Given the description of an element on the screen output the (x, y) to click on. 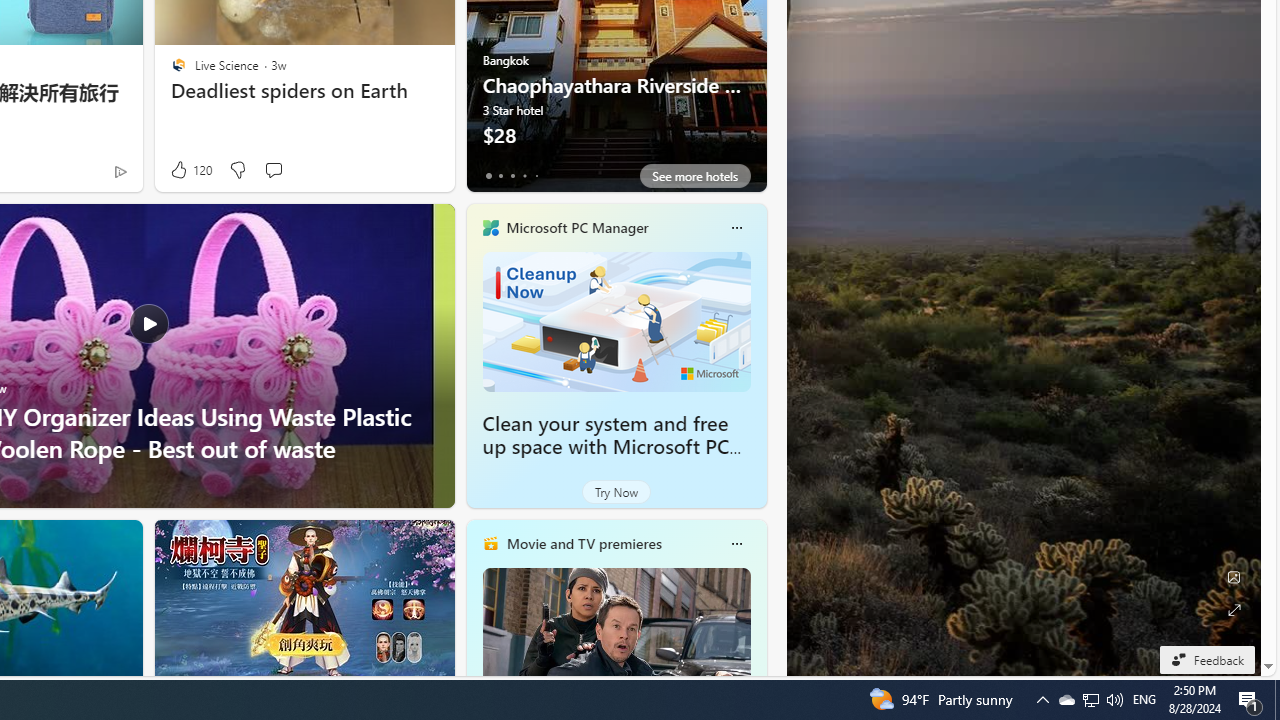
tab-2 (511, 175)
tab-1 (500, 175)
Start the conversation (272, 170)
tab-4 (535, 175)
Microsoft PC Manager (576, 227)
Movie and TV premieres (583, 543)
See more hotels (694, 175)
Feedback (1206, 659)
120 Like (190, 170)
Class: icon-img (736, 543)
tab-0 (488, 175)
Expand background (1233, 610)
